Given the description of an element on the screen output the (x, y) to click on. 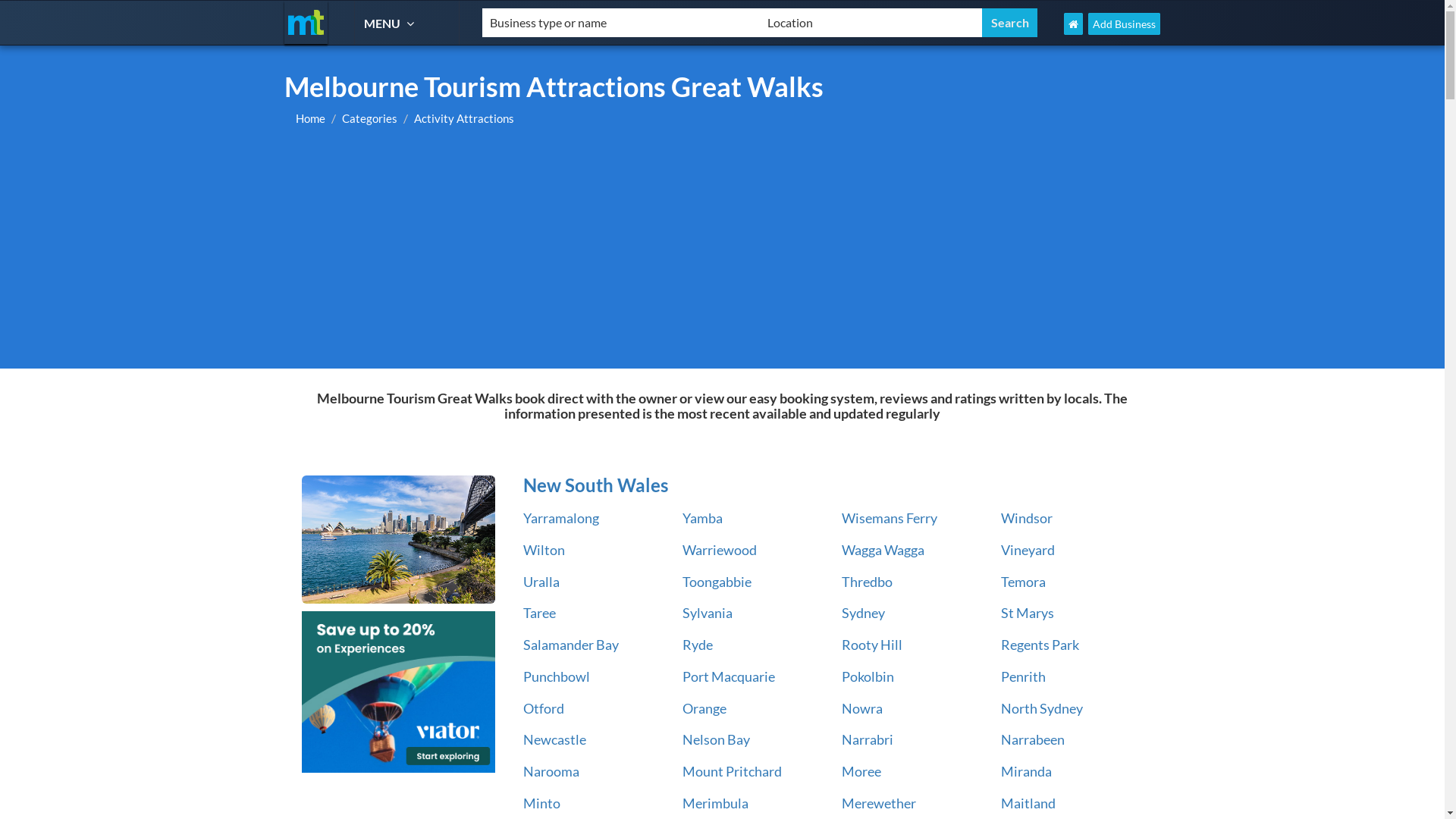
Wagga Wagga Element type: text (882, 549)
Miranda Element type: text (1026, 770)
Regents Park Element type: text (1040, 644)
St Marys Element type: text (1027, 612)
Nowra Element type: text (861, 707)
Activity Attractions Element type: text (464, 118)
Categories Element type: text (369, 118)
Toongabbie Element type: text (716, 581)
Pokolbin Element type: text (867, 676)
Home Element type: text (310, 118)
New South Wales Element type: hover (398, 539)
Yamba Element type: text (702, 517)
Port Macquarie Element type: text (728, 676)
Newcastle Element type: text (554, 739)
Search Element type: text (1009, 22)
Narrabeen Element type: text (1032, 739)
Melbourne Tourism Home Page Element type: hover (1072, 23)
Windsor Element type: text (1026, 517)
Add Business Element type: text (1124, 23)
Sylvania Element type: text (707, 612)
Otford Element type: text (543, 707)
Penrith Element type: text (1023, 676)
Merewether Element type: text (878, 802)
Mount Pritchard Element type: text (731, 770)
Wilton Element type: text (543, 549)
Rooty Hill Element type: text (871, 644)
Nelson Bay Element type: text (715, 739)
Taree Element type: text (539, 612)
Uralla Element type: text (541, 581)
Salamander Bay Element type: text (570, 644)
Ryde Element type: text (697, 644)
Orange Element type: text (704, 707)
Wisemans Ferry Element type: text (889, 517)
Vineyard Element type: text (1027, 549)
Warriewood Element type: text (719, 549)
Yarramalong Element type: text (561, 517)
Sydney Element type: text (862, 612)
Punchbowl Element type: text (556, 676)
Temora Element type: text (1023, 581)
MENU Element type: text (390, 22)
Maitland Element type: text (1028, 802)
Minto Element type: text (541, 802)
Thredbo Element type: text (866, 581)
Narrabri Element type: text (867, 739)
New South Wales Element type: text (830, 485)
Narooma Element type: text (551, 770)
North Sydney Element type: text (1041, 707)
Moree Element type: text (861, 770)
Melbourne Tourism Element type: hover (305, 21)
Advertisement Element type: hover (722, 254)
Merimbula Element type: text (715, 802)
